Given the description of an element on the screen output the (x, y) to click on. 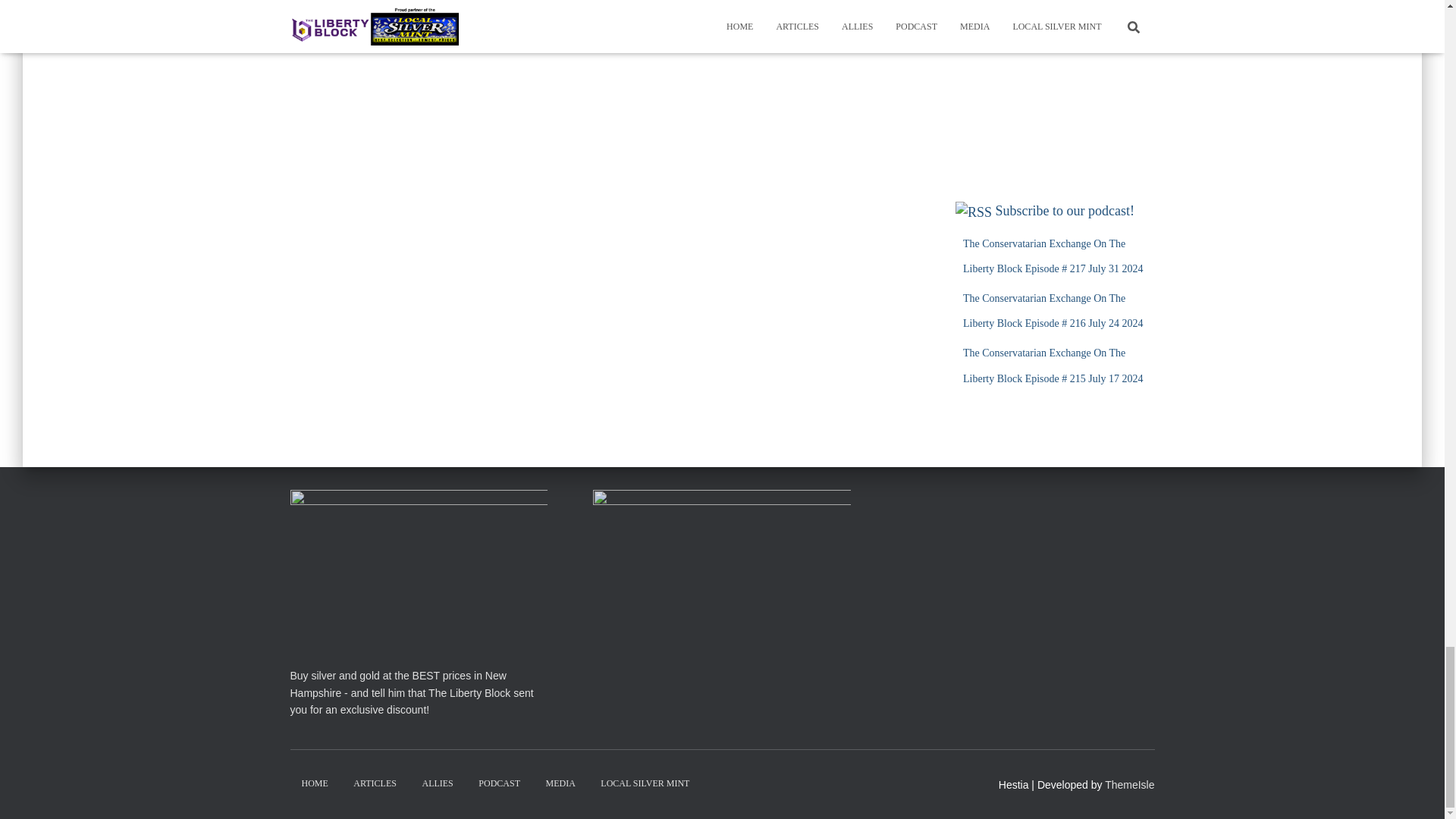
Subscribe to our podcast! (1064, 210)
